Given the description of an element on the screen output the (x, y) to click on. 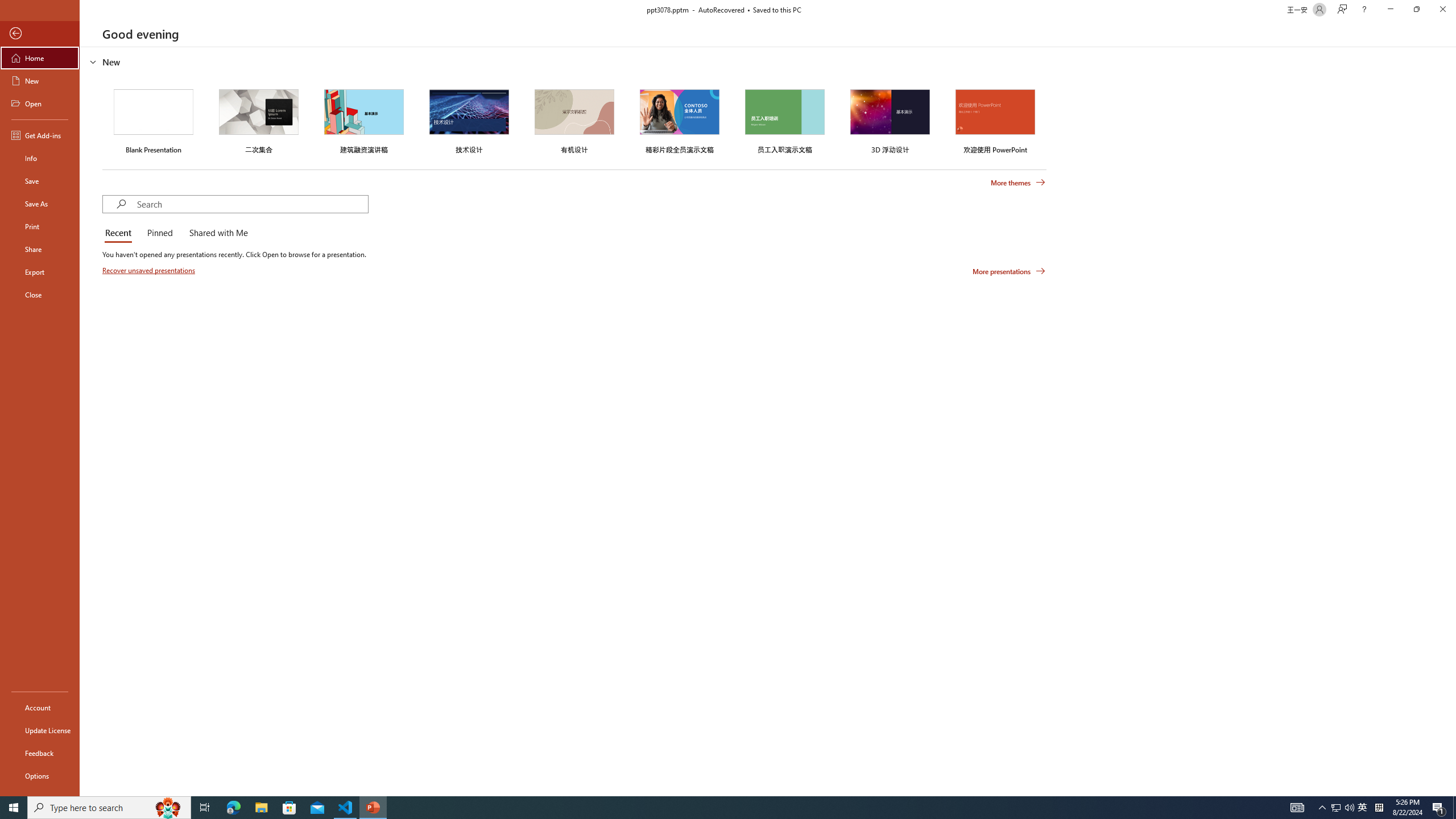
Copilot (Ctrl+Shift+.) (1434, 46)
Add Port (366, 334)
Earth - Wikipedia (23, 448)
Close Panel (1033, 182)
Notifications (1034, 766)
Extensions (Ctrl+Shift+X) (76, 397)
